Given the description of an element on the screen output the (x, y) to click on. 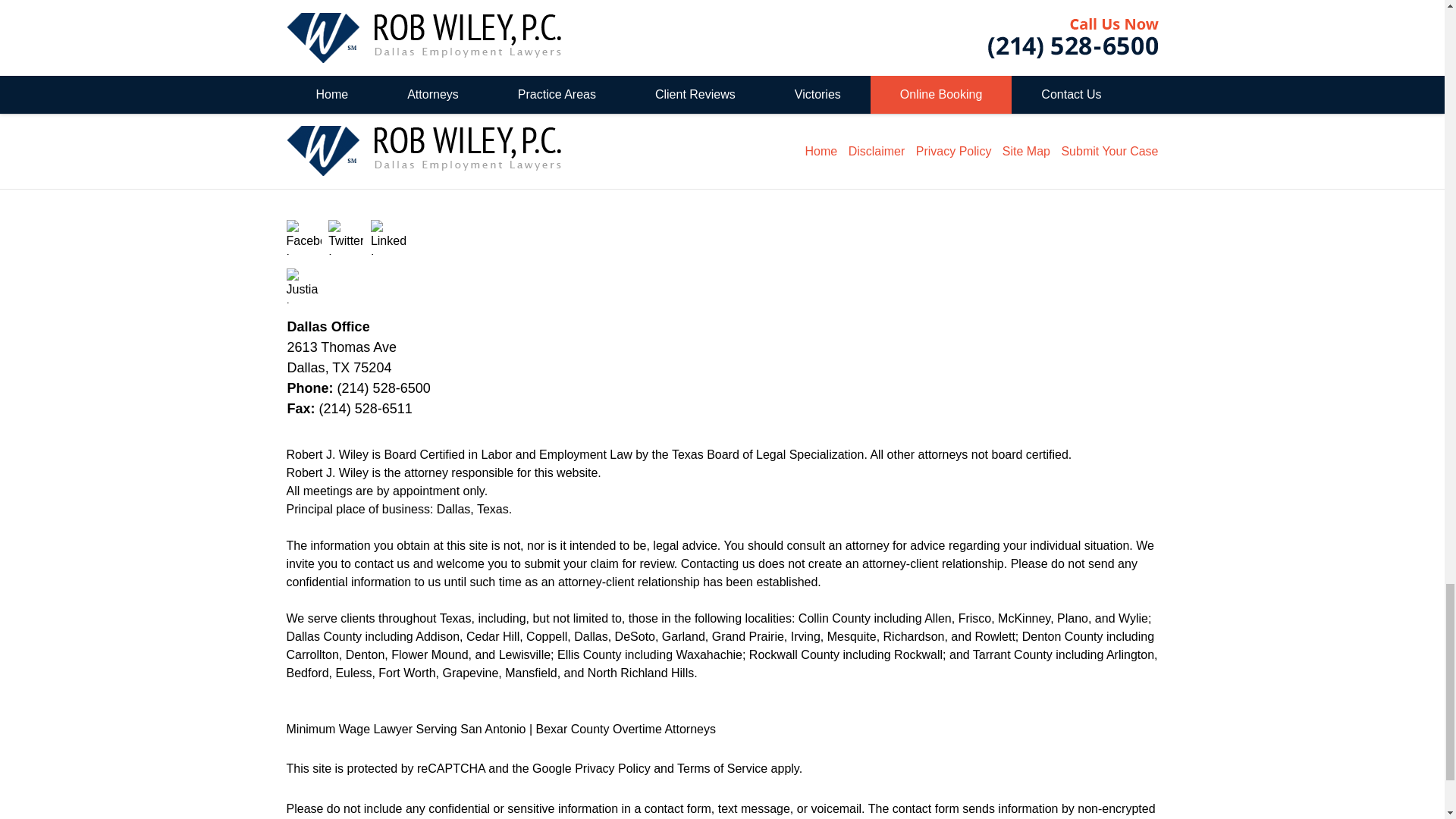
Twitter (345, 237)
LinkedIn (388, 237)
Justia (303, 285)
Facebook (303, 237)
